Given the description of an element on the screen output the (x, y) to click on. 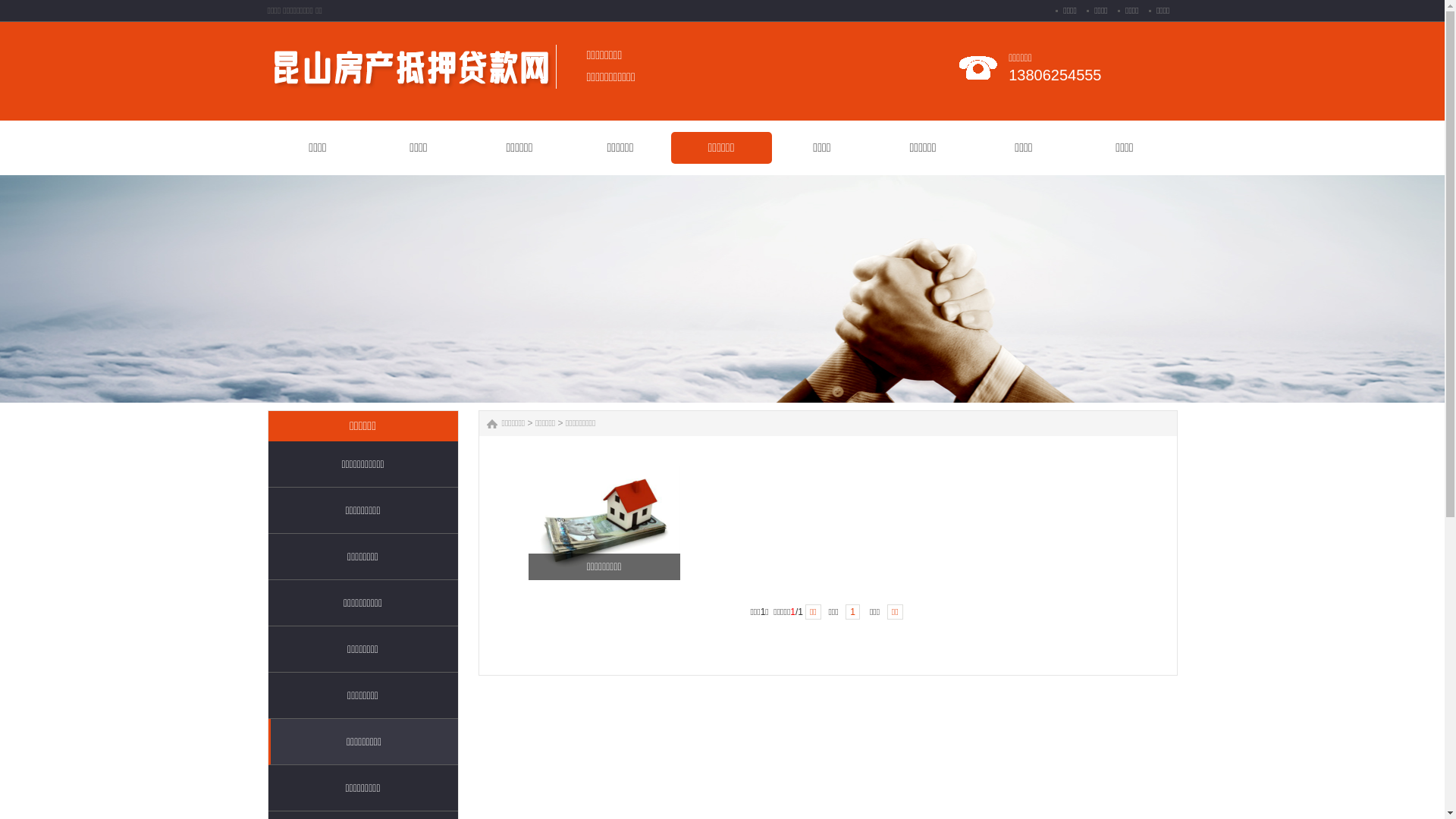
1 Element type: text (852, 611)
